Given the description of an element on the screen output the (x, y) to click on. 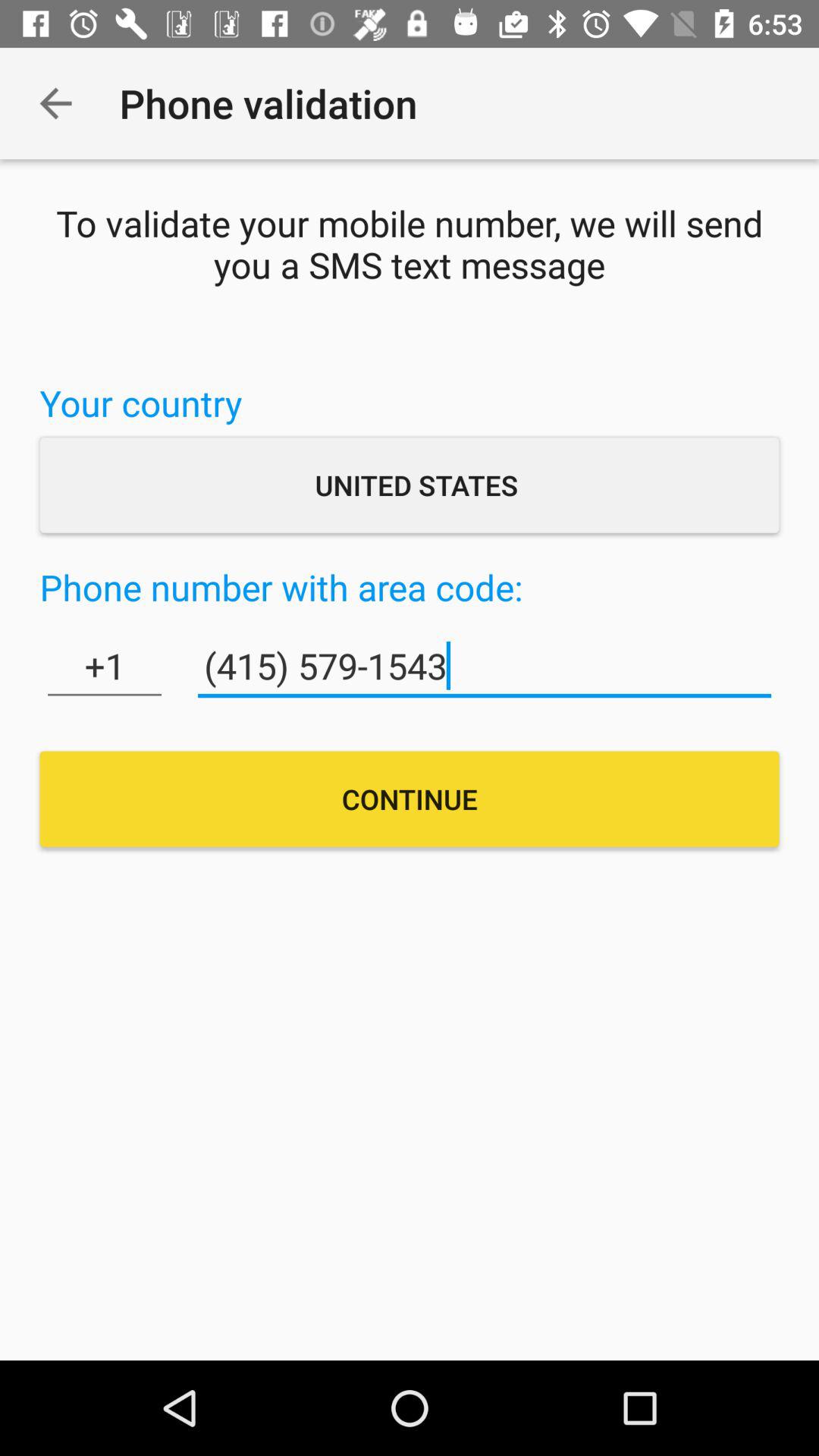
launch app to the left of phone validation app (55, 103)
